Given the description of an element on the screen output the (x, y) to click on. 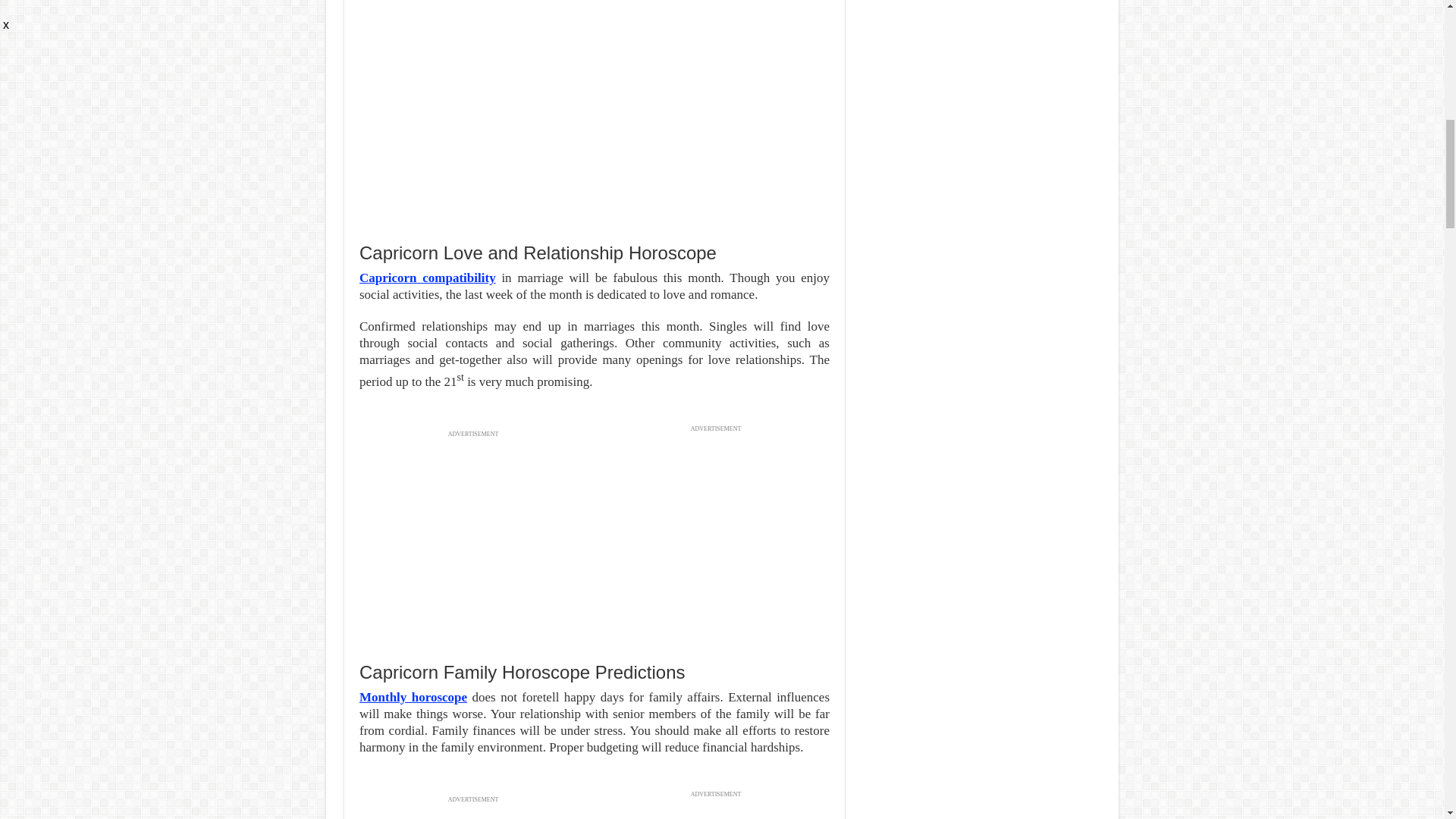
Capricorn compatibility (427, 278)
Monthly horoscope (413, 697)
